Given the description of an element on the screen output the (x, y) to click on. 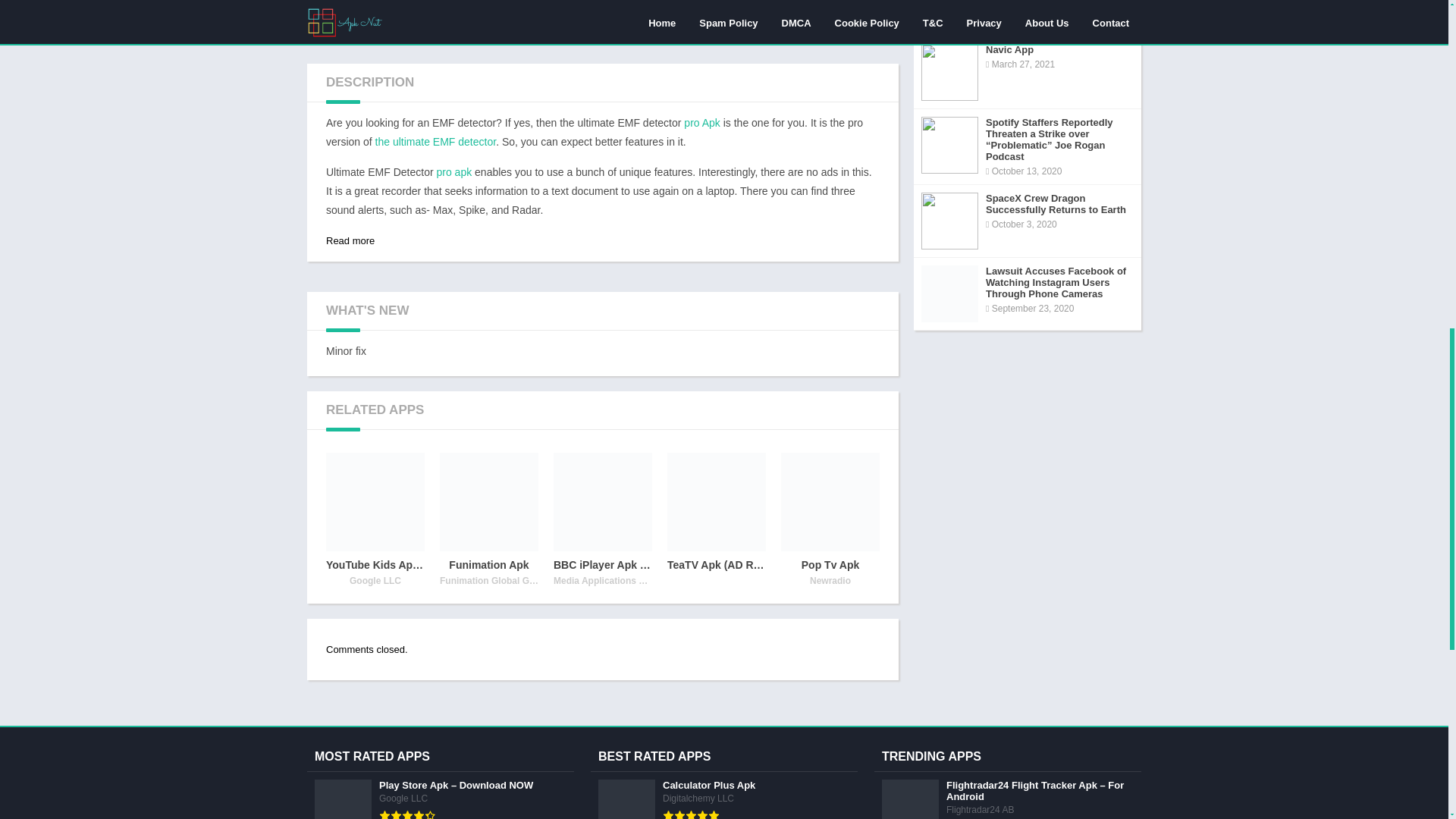
Advertisement (602, 24)
